Given the description of an element on the screen output the (x, y) to click on. 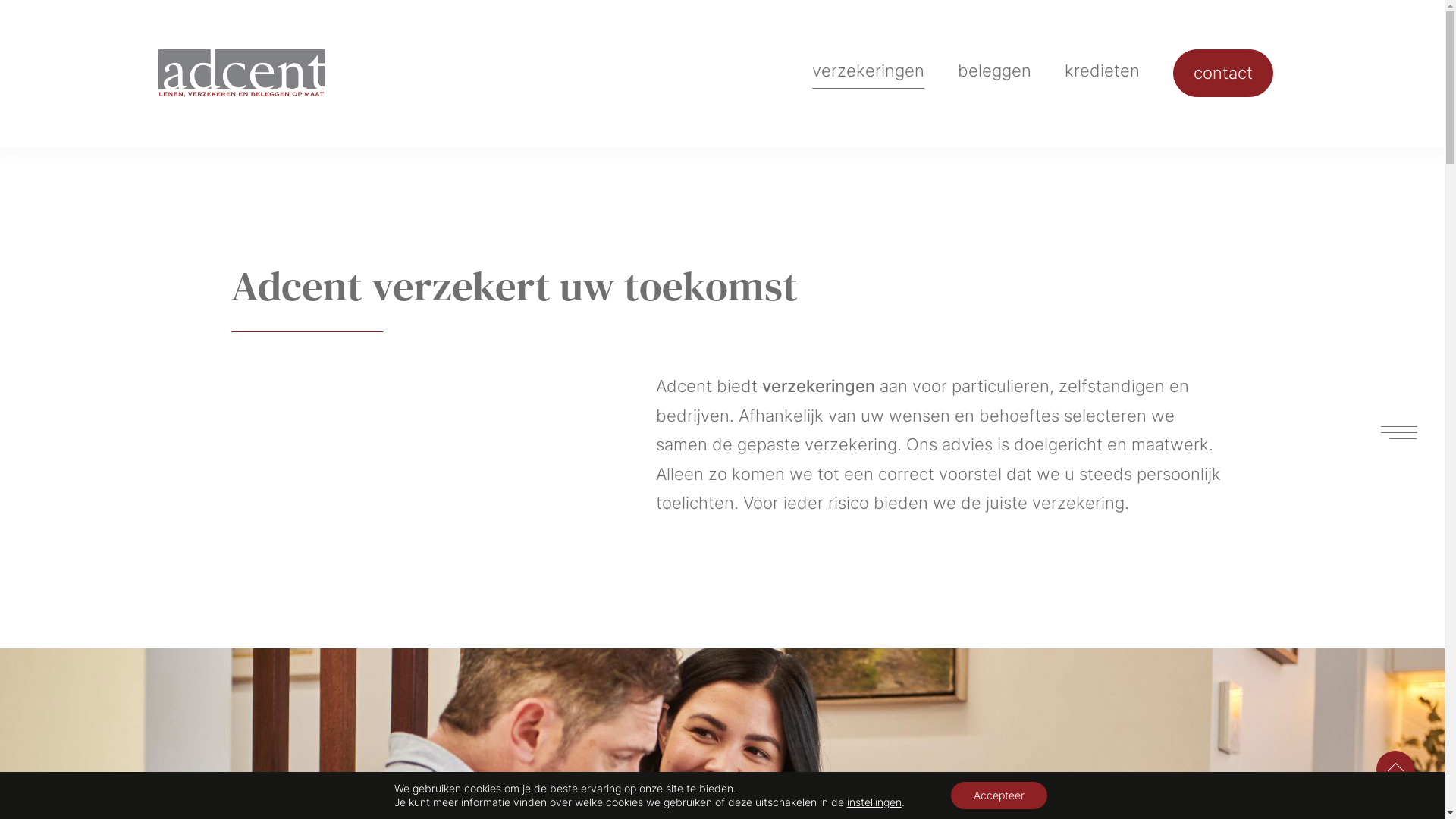
kredieten Element type: text (1101, 73)
Accepteer Element type: text (998, 795)
verzekeringen Element type: text (868, 73)
instellingen Element type: text (874, 802)
contact Element type: text (1223, 73)
beleggen Element type: text (994, 73)
